Given the description of an element on the screen output the (x, y) to click on. 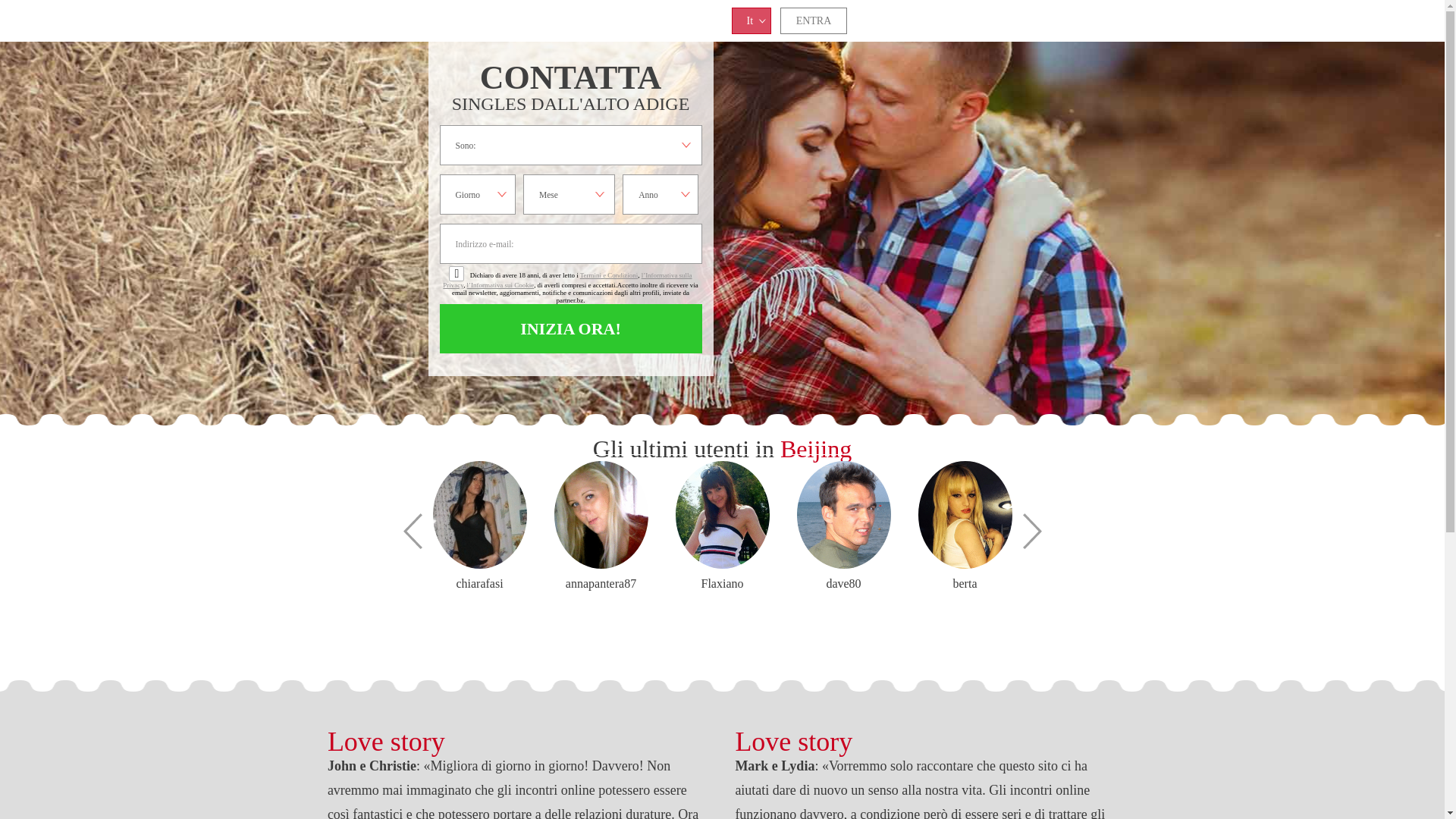
chiarafasi Element type: hover (479, 514)
annapantera87 Element type: text (600, 583)
berta Element type: text (964, 583)
Flaxiano Element type: hover (721, 514)
dave80 Element type: text (843, 583)
berta Element type: hover (964, 514)
Termini e Condizioni Element type: text (608, 275)
dave80 Element type: hover (843, 514)
ENTRA Element type: text (813, 20)
Inizia Ora! Element type: text (570, 328)
chiarafasi Element type: text (479, 583)
annapantera87 Element type: hover (600, 514)
Flaxiano Element type: text (721, 583)
